Given the description of an element on the screen output the (x, y) to click on. 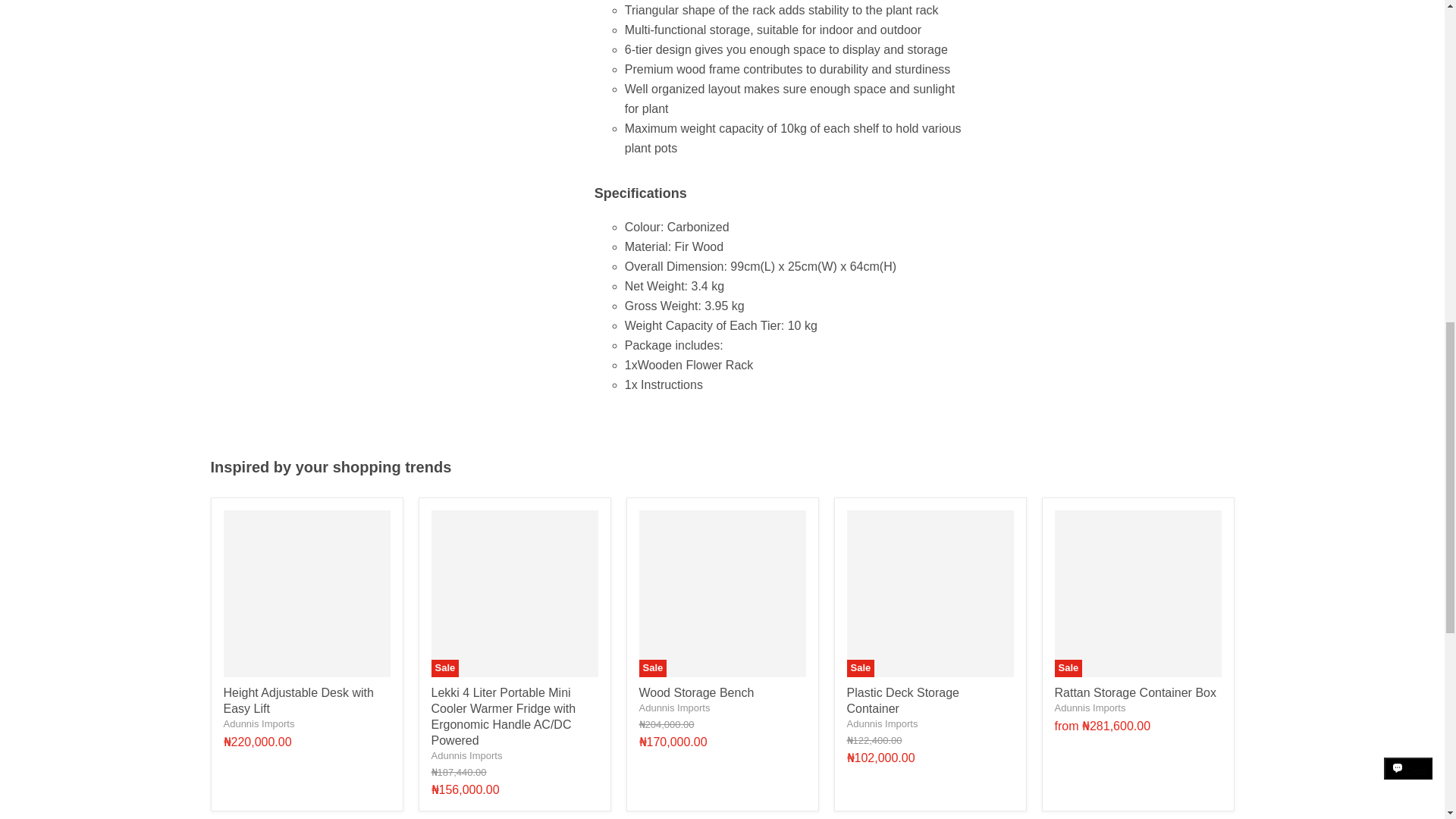
Adunnis Imports (1089, 707)
Adunnis Imports (258, 723)
Adunnis Imports (466, 755)
Adunnis Imports (881, 723)
Adunnis Imports (674, 707)
